Given the description of an element on the screen output the (x, y) to click on. 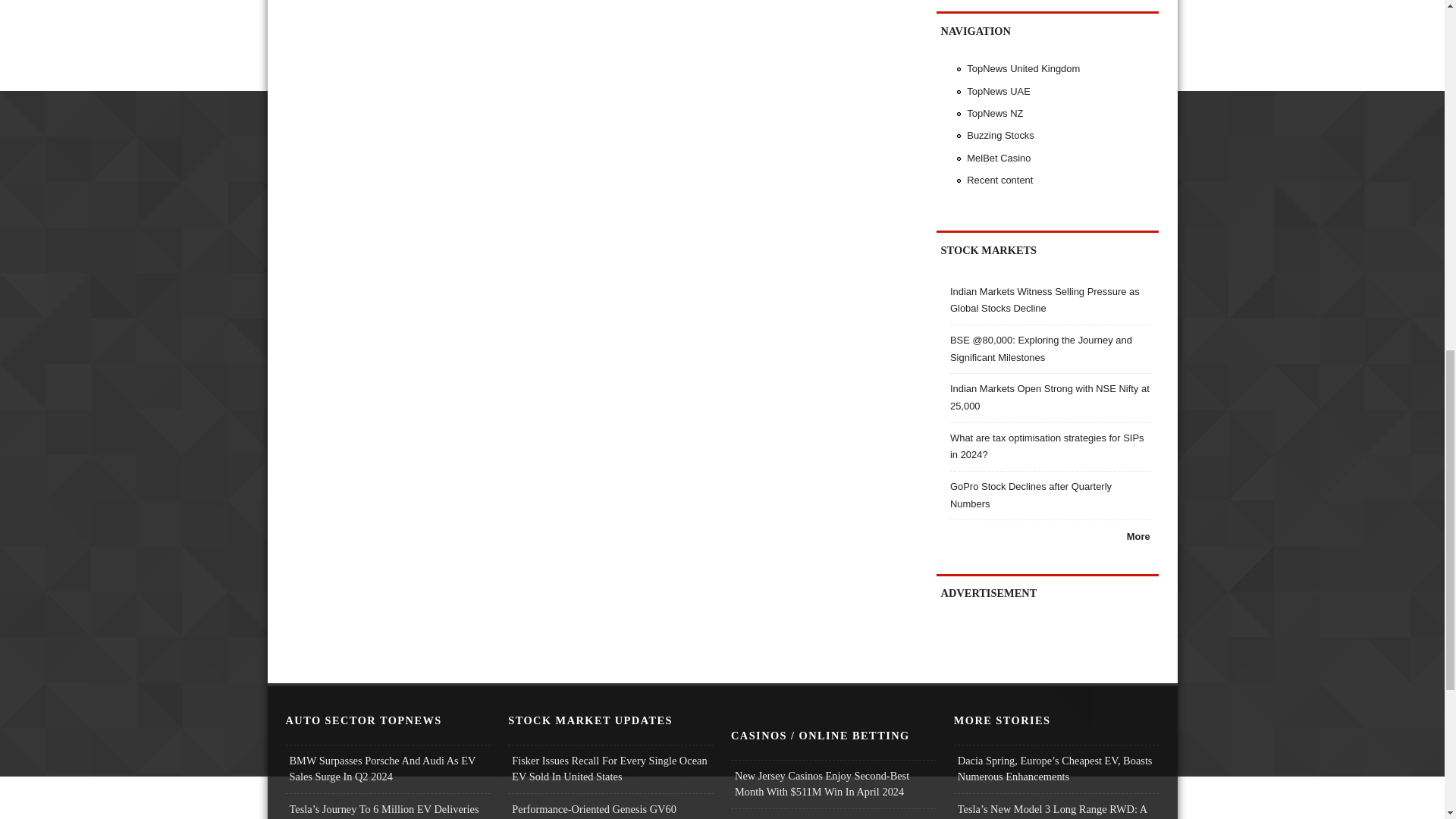
TopNews United Kingdom (1023, 68)
Buzzing Stocks (999, 134)
MelBet Casino (998, 157)
Recent content (999, 179)
TopNews NZ (994, 112)
TopNews UAE (998, 91)
